Given the description of an element on the screen output the (x, y) to click on. 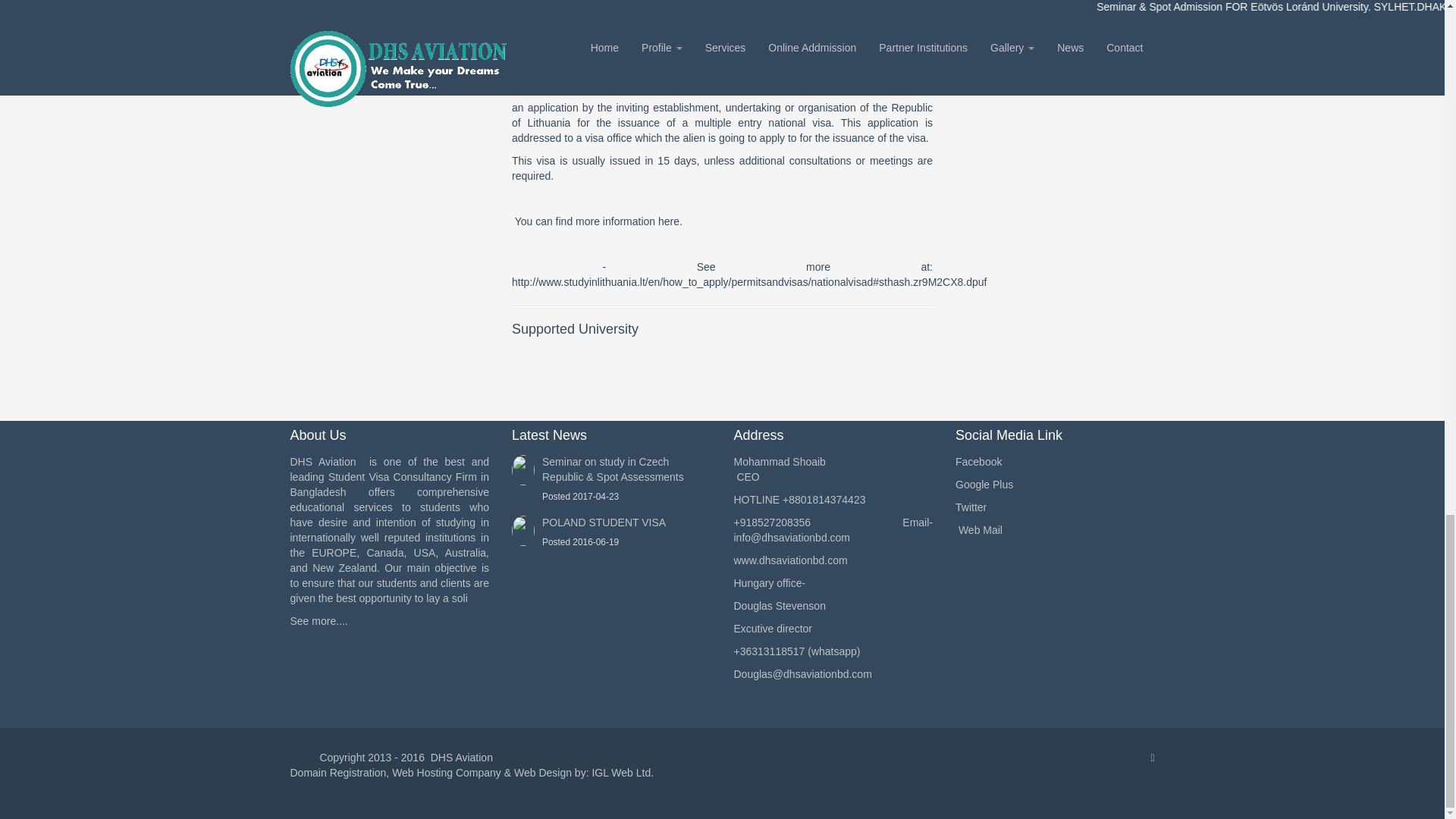
Google Plus (1054, 485)
IGL Web Ltd (620, 772)
Facebook (1054, 462)
Web Hosting Company (445, 772)
Twitter (1054, 507)
See more.... (318, 621)
POLAND EDUCATION FAIR 2016 (389, 115)
Web Design (542, 772)
USA (389, 30)
 Web Mail (1054, 530)
